Given the description of an element on the screen output the (x, y) to click on. 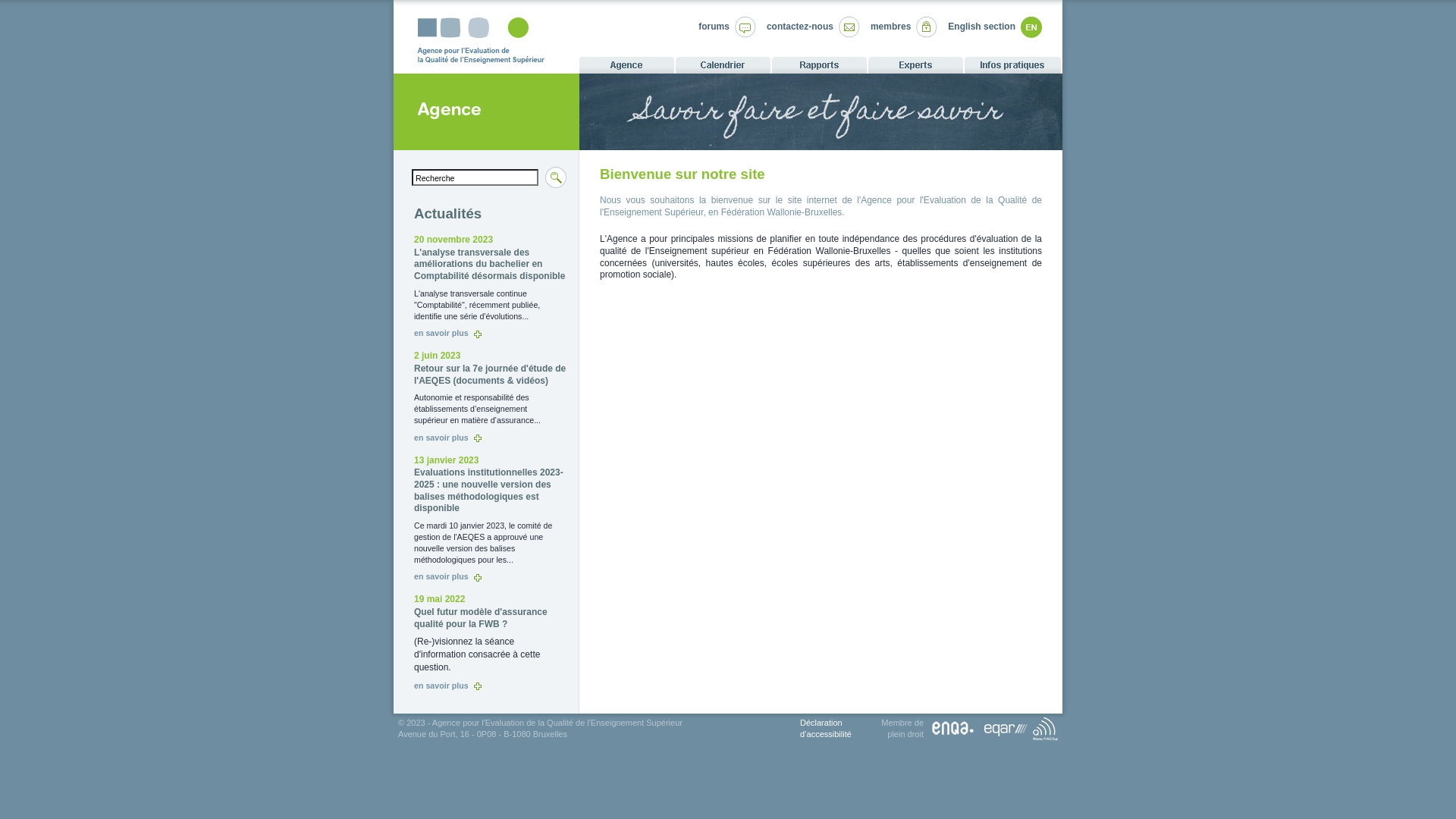
en savoir plus Element type: text (447, 437)
contactez-nous Element type: text (799, 26)
en savoir plus Element type: text (447, 685)
en savoir plus Element type: text (447, 575)
forums Element type: text (713, 26)
English section Element type: text (981, 26)
en savoir plus Element type: text (447, 332)
membres Element type: text (890, 26)
